Given the description of an element on the screen output the (x, y) to click on. 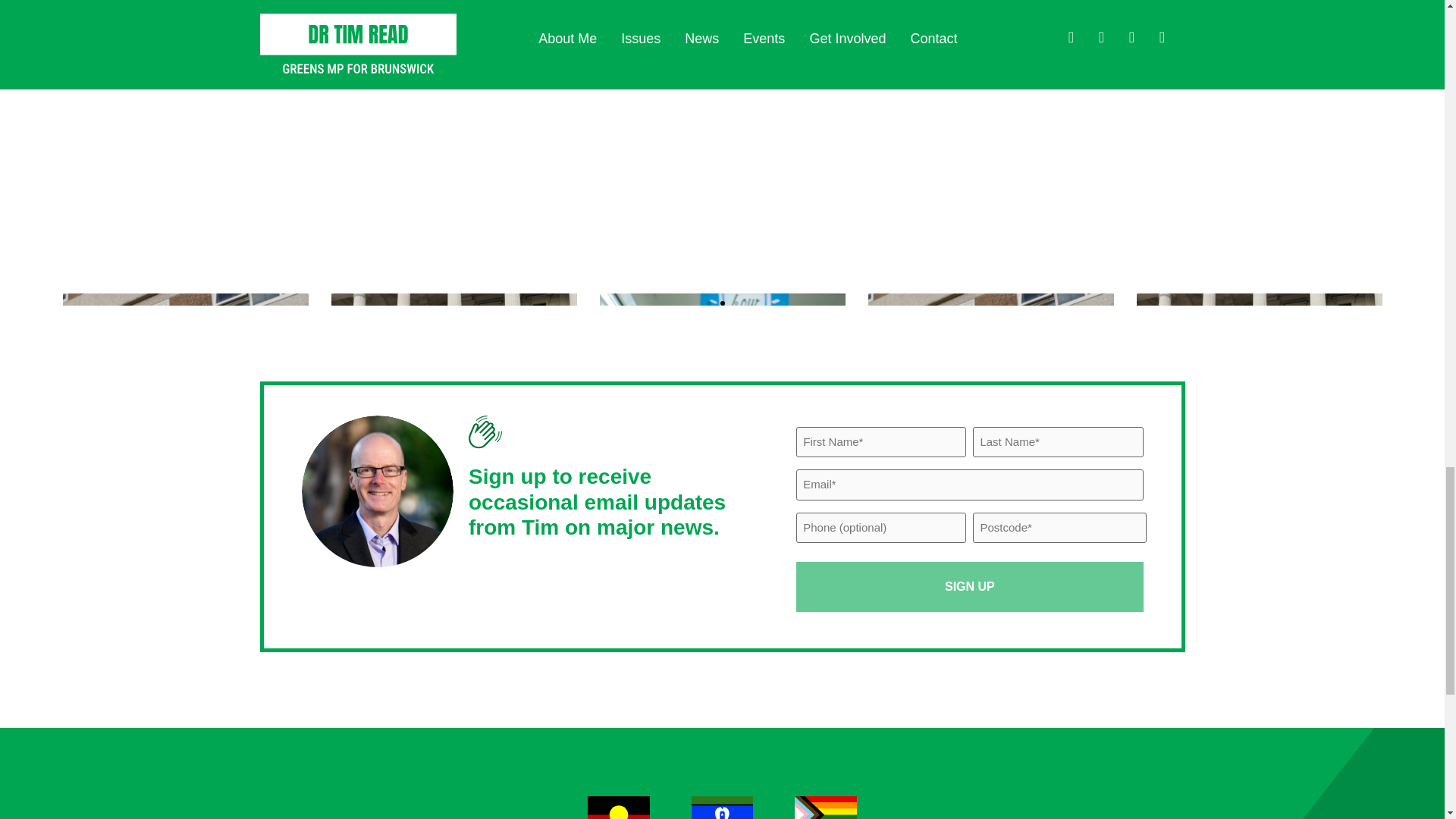
SIGN UP (969, 586)
